Given the description of an element on the screen output the (x, y) to click on. 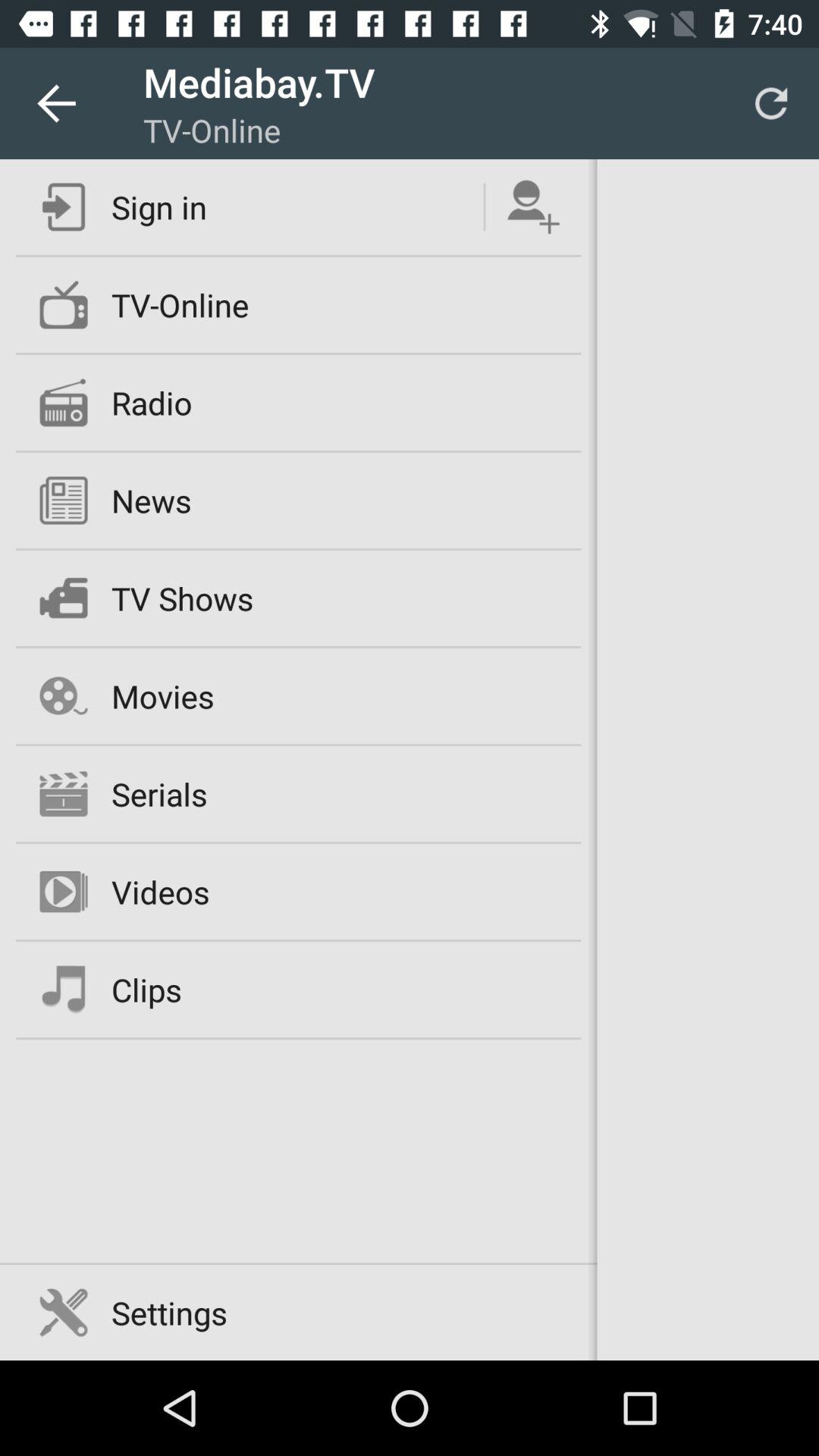
scroll until the settings (169, 1312)
